Given the description of an element on the screen output the (x, y) to click on. 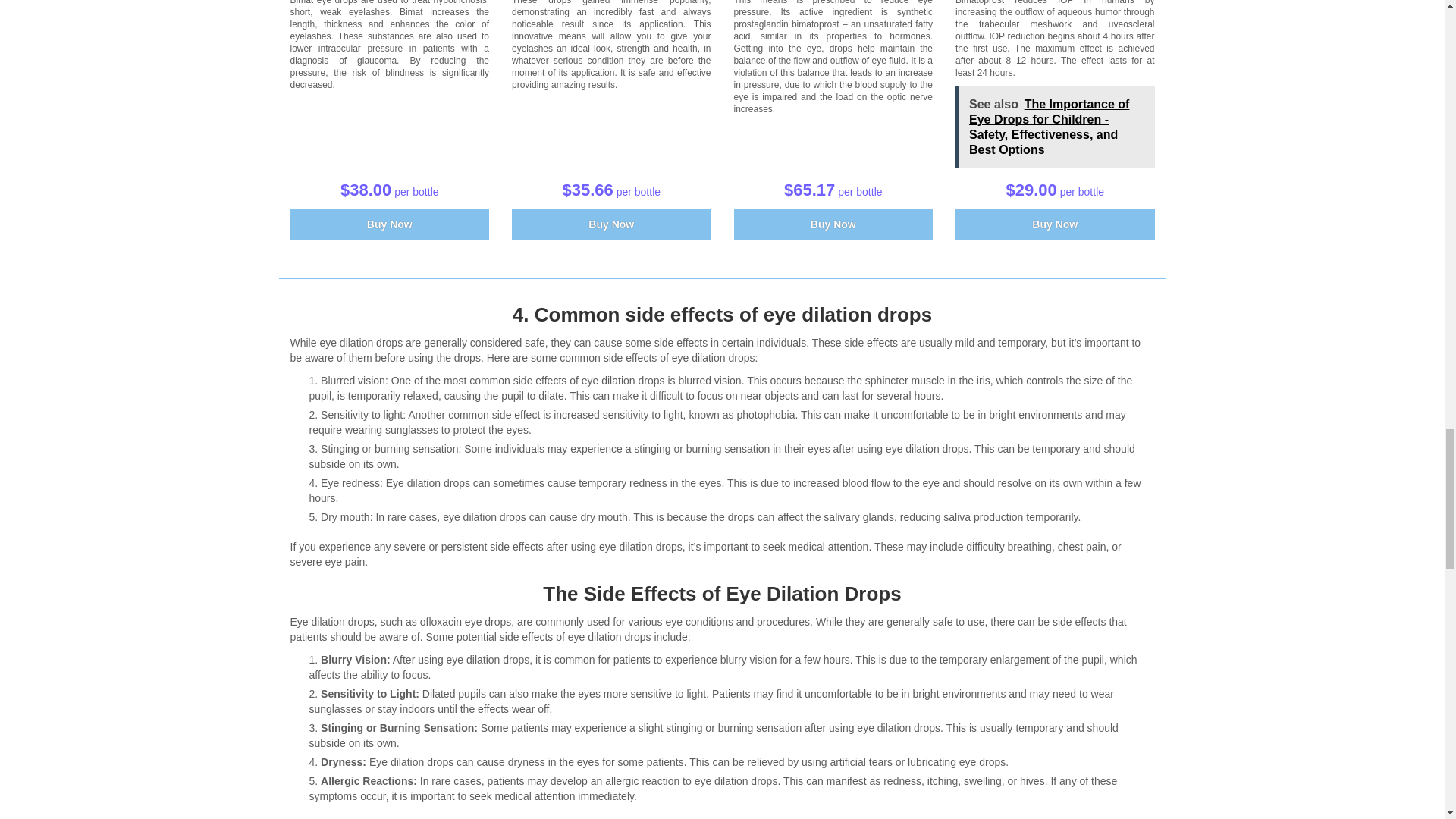
Buy Now (611, 224)
Buy Now (1054, 224)
Buy Now (389, 224)
Buy Now (833, 224)
Buy Now (611, 224)
Buy Now (389, 224)
